Given the description of an element on the screen output the (x, y) to click on. 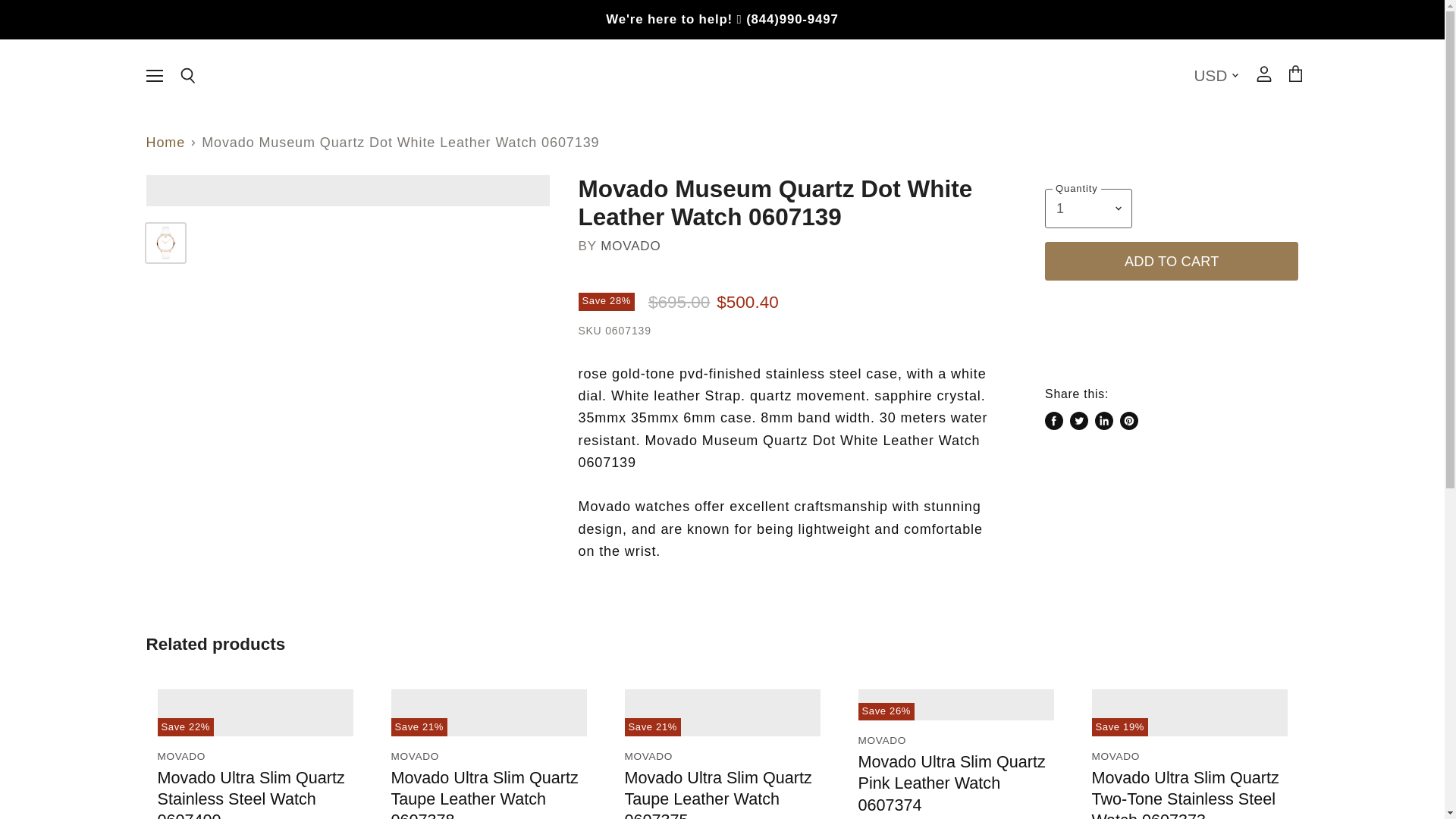
Pin on Pinterest (1128, 420)
Share on LinkedIn (1103, 420)
Movado Ultra Slim Quartz Stainless Steel Watch 0607400 (251, 793)
Menu (154, 74)
View cart (1293, 75)
Tweet on Twitter (1078, 420)
Search (186, 76)
Home (164, 142)
MOVADO (630, 246)
Share on Facebook (1053, 420)
ADD TO CART (1171, 260)
View account (1262, 75)
Movado (630, 246)
